Given the description of an element on the screen output the (x, y) to click on. 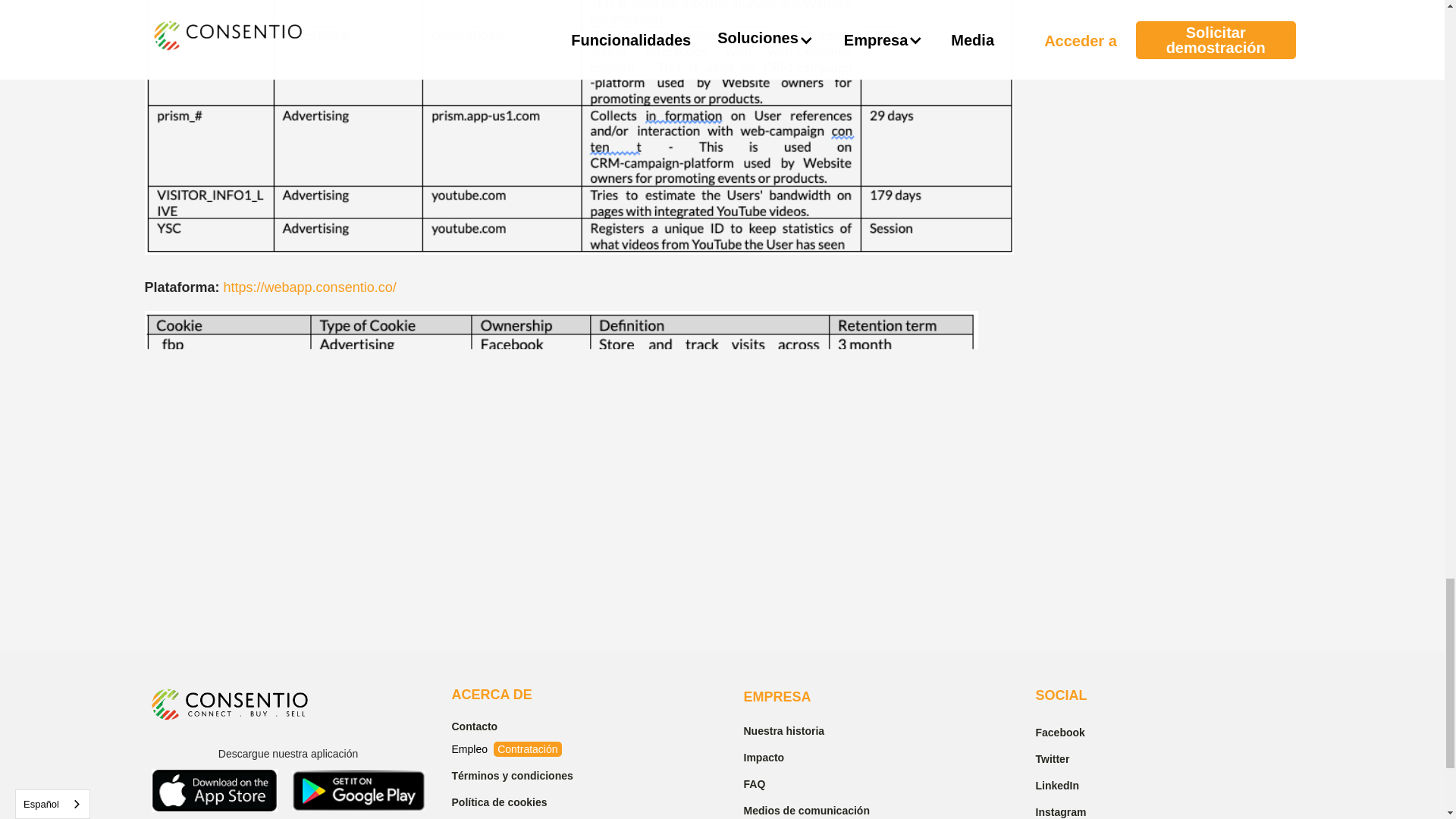
Contacto (527, 723)
Nuestra historia (818, 728)
Impacto (818, 755)
FAQ (818, 782)
Empleo (470, 748)
